Given the description of an element on the screen output the (x, y) to click on. 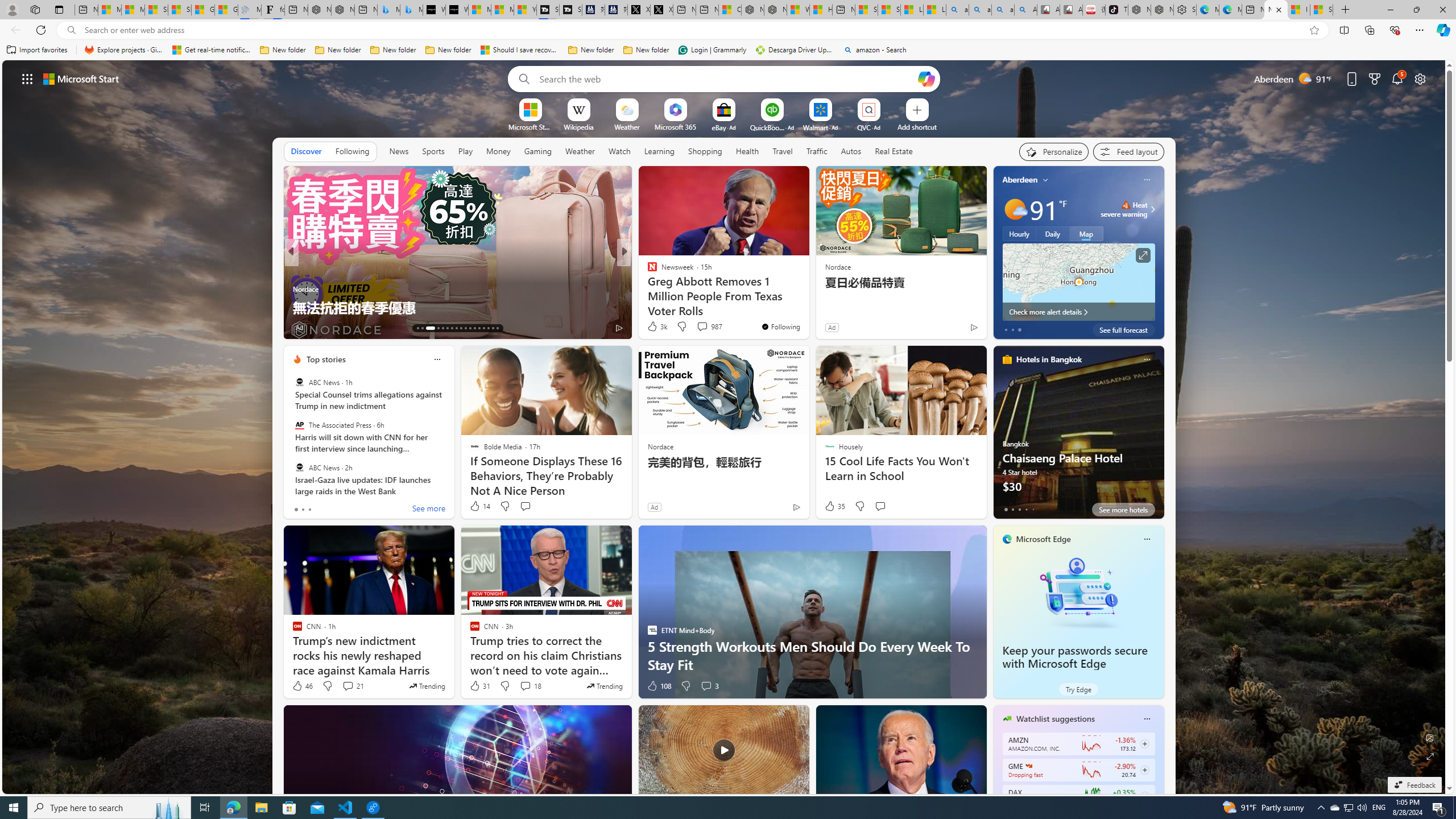
AutomationID: tab-26 (483, 328)
79 Like (652, 327)
35 Like (834, 505)
Housely (647, 270)
Import favorites (36, 49)
Try Edge (1078, 689)
